Given the description of an element on the screen output the (x, y) to click on. 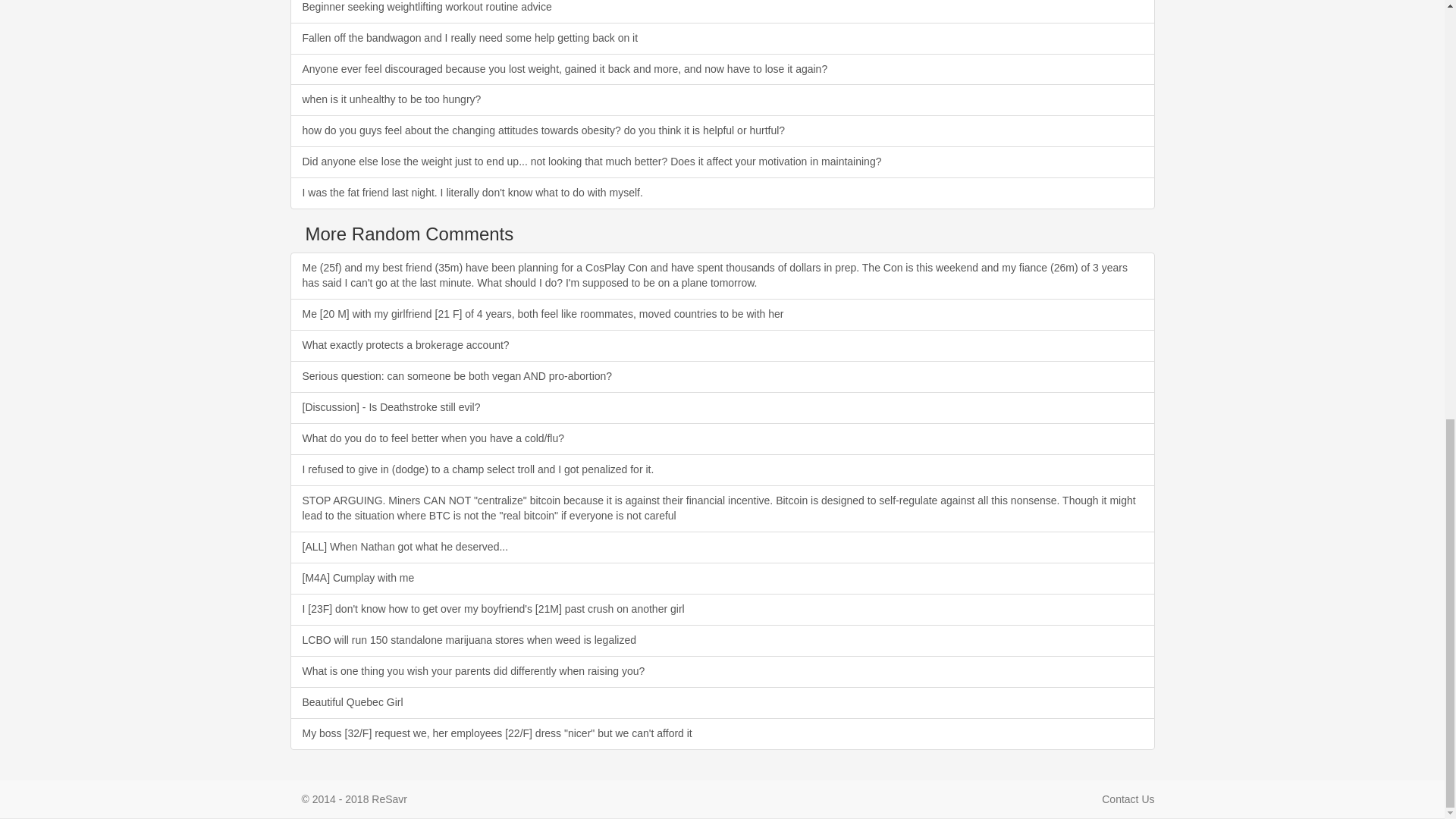
when is it unhealthy to be too hungry? (721, 100)
Beginner seeking weightlifting workout routine advice (721, 11)
What exactly protects a brokerage account? (721, 345)
Beautiful Quebec Girl (721, 703)
